Given the description of an element on the screen output the (x, y) to click on. 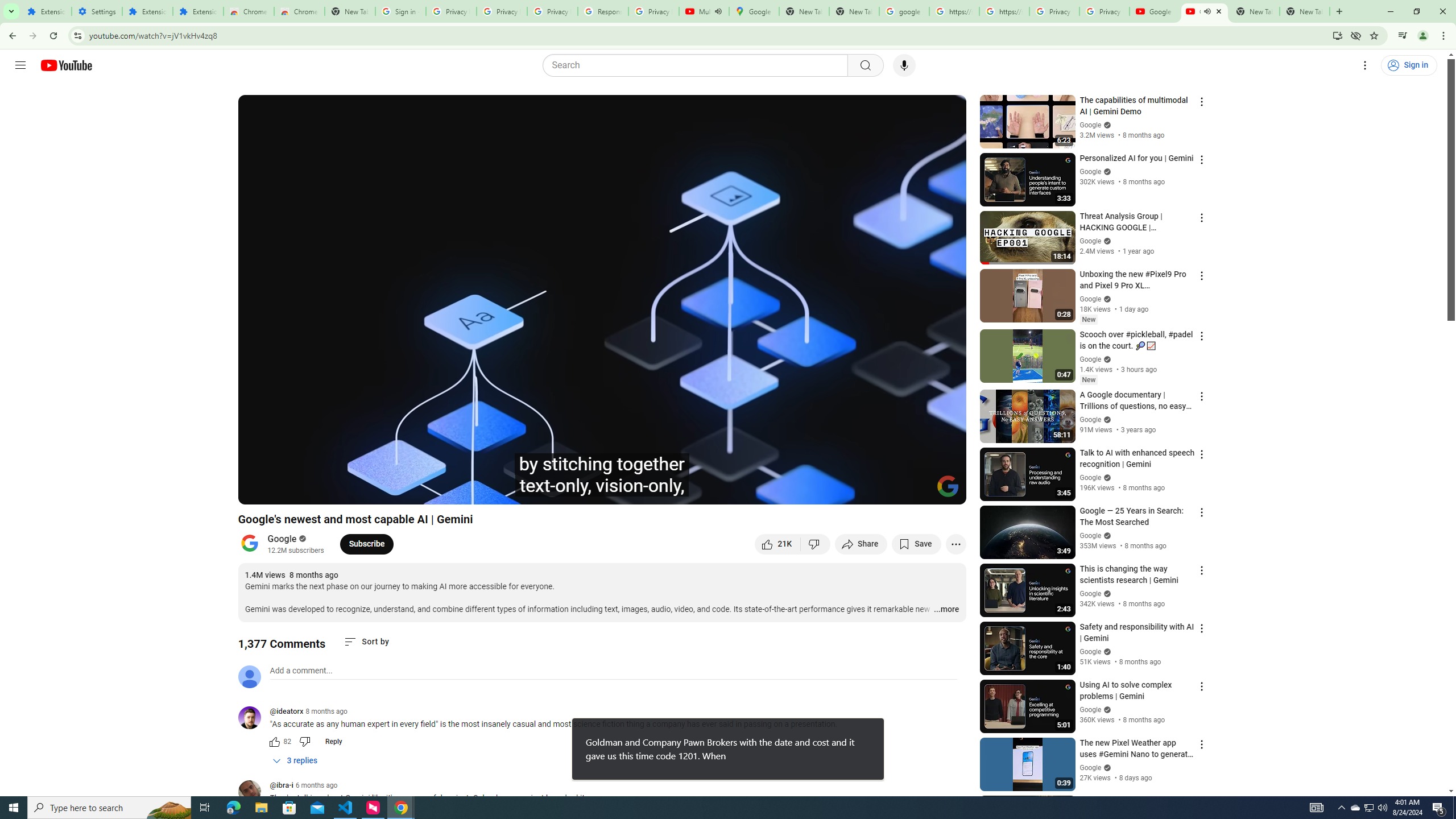
Sort comments (366, 641)
Google - YouTube (1154, 11)
Search with your voice (903, 65)
Settings (97, 11)
...more (946, 609)
Subscribe to Google. (366, 543)
Reply (333, 741)
